Given the description of an element on the screen output the (x, y) to click on. 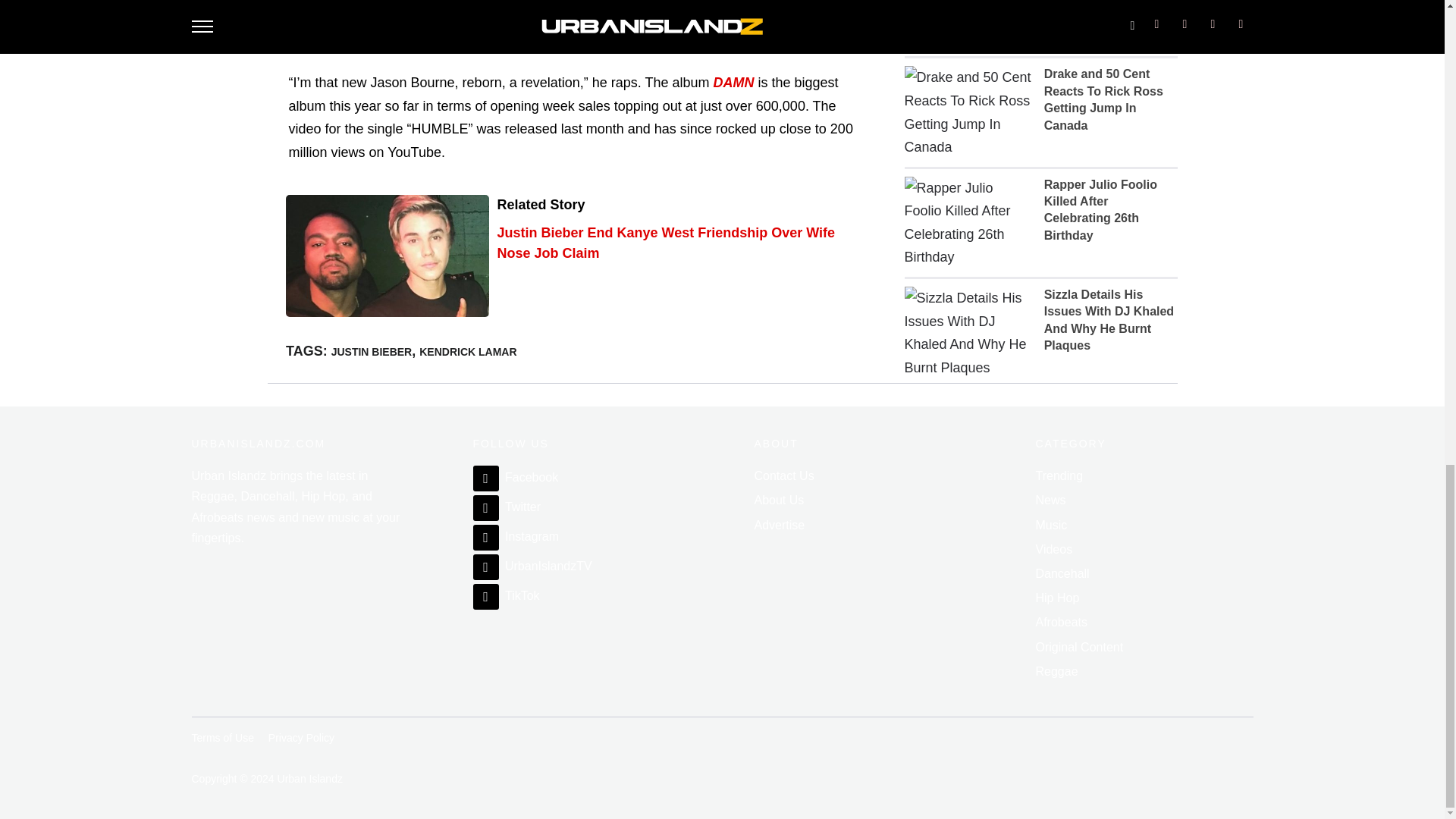
UrbanIslandzTV (532, 565)
Twitter (507, 506)
Instagram (516, 535)
Facebook (516, 477)
